Given the description of an element on the screen output the (x, y) to click on. 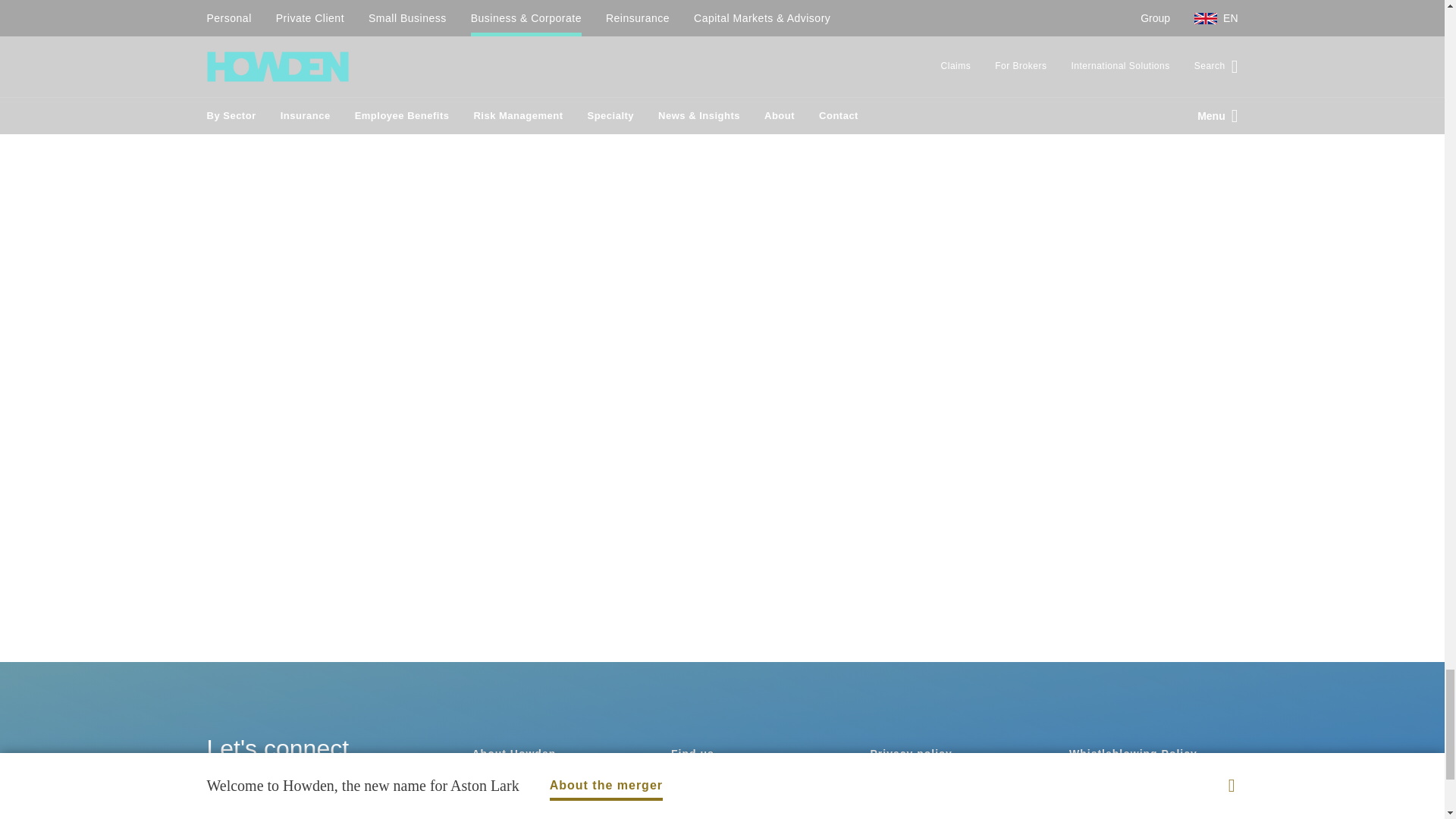
Whistleblowing Policy (1132, 753)
Find us (692, 753)
Complaints (1101, 785)
Privacy policy (911, 753)
Cookie Policy (910, 785)
Group site (701, 785)
Contact  (493, 815)
Careers (493, 785)
About Howden (513, 753)
Our entities (904, 815)
